Given the description of an element on the screen output the (x, y) to click on. 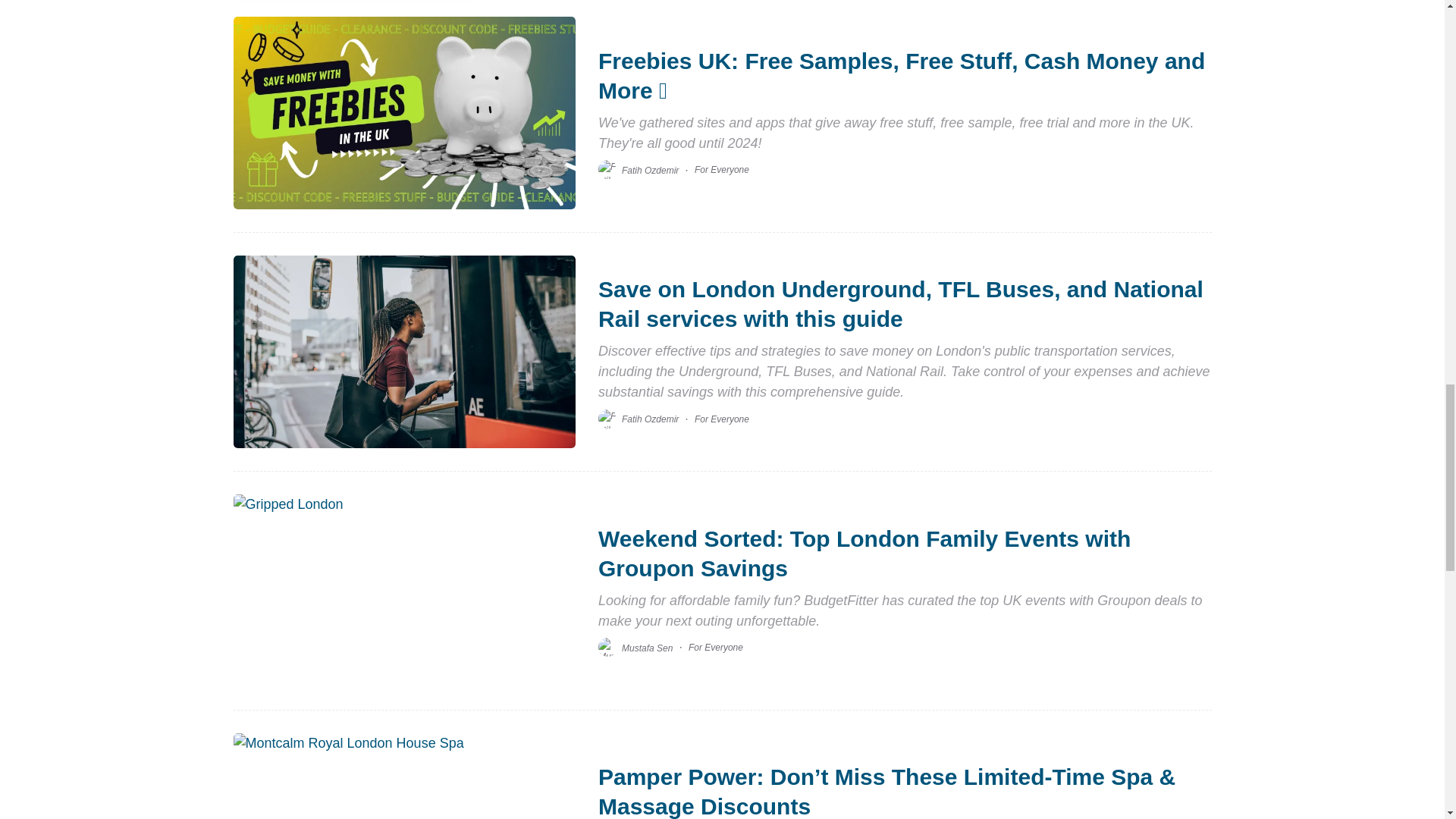
Posts by Fatih Ozdemir (649, 169)
Posts by Fatih Ozdemir (649, 419)
Posts by Mustafa Sen (646, 647)
